Given the description of an element on the screen output the (x, y) to click on. 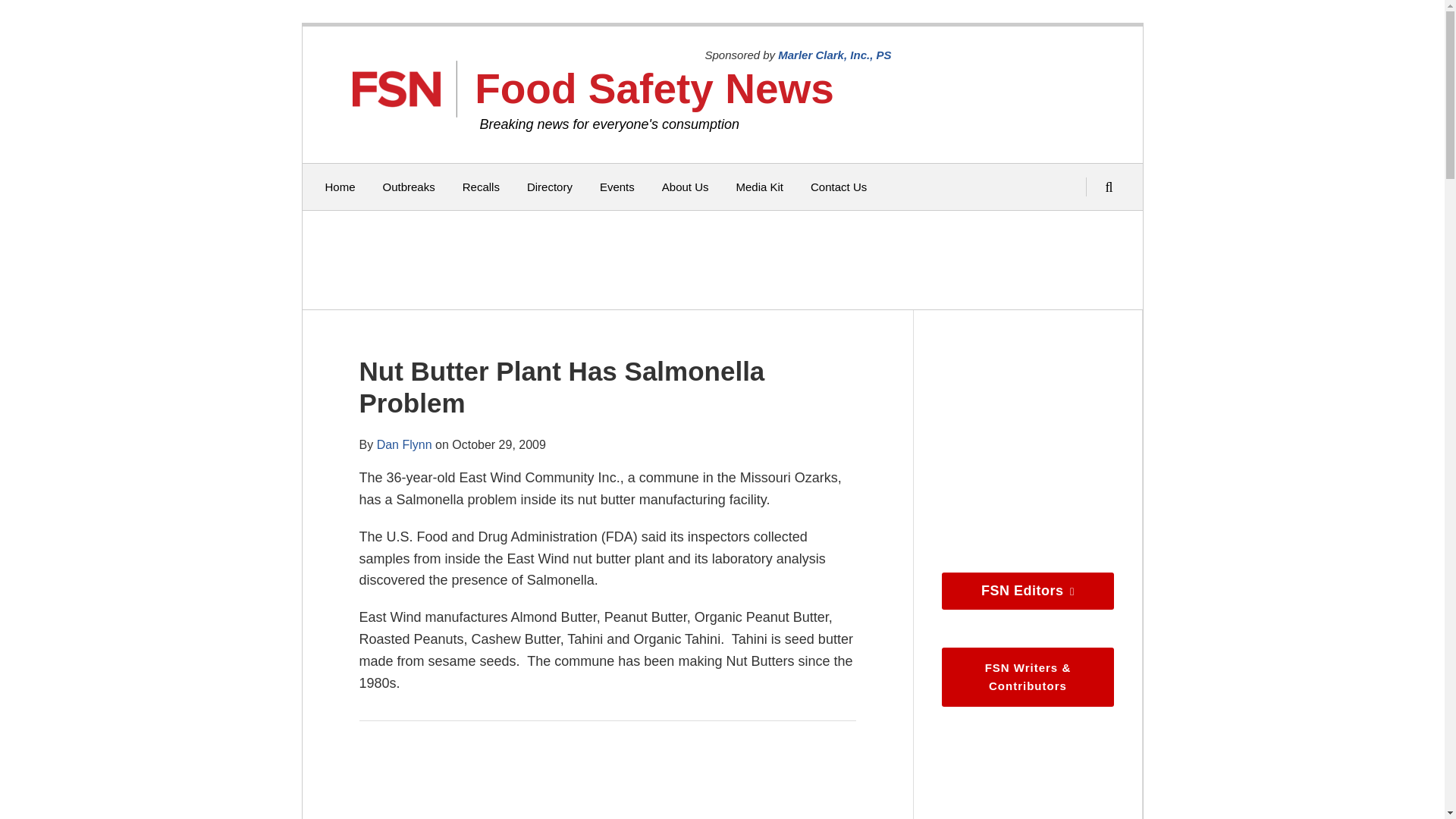
About Us (685, 187)
Dan Flynn (404, 444)
Marler Clark, Inc., PS (834, 54)
Home (339, 187)
Events (616, 187)
Advertisement (718, 260)
Directory (549, 187)
Contact Us (838, 187)
Outbreaks (408, 187)
Media Kit (759, 187)
